Given the description of an element on the screen output the (x, y) to click on. 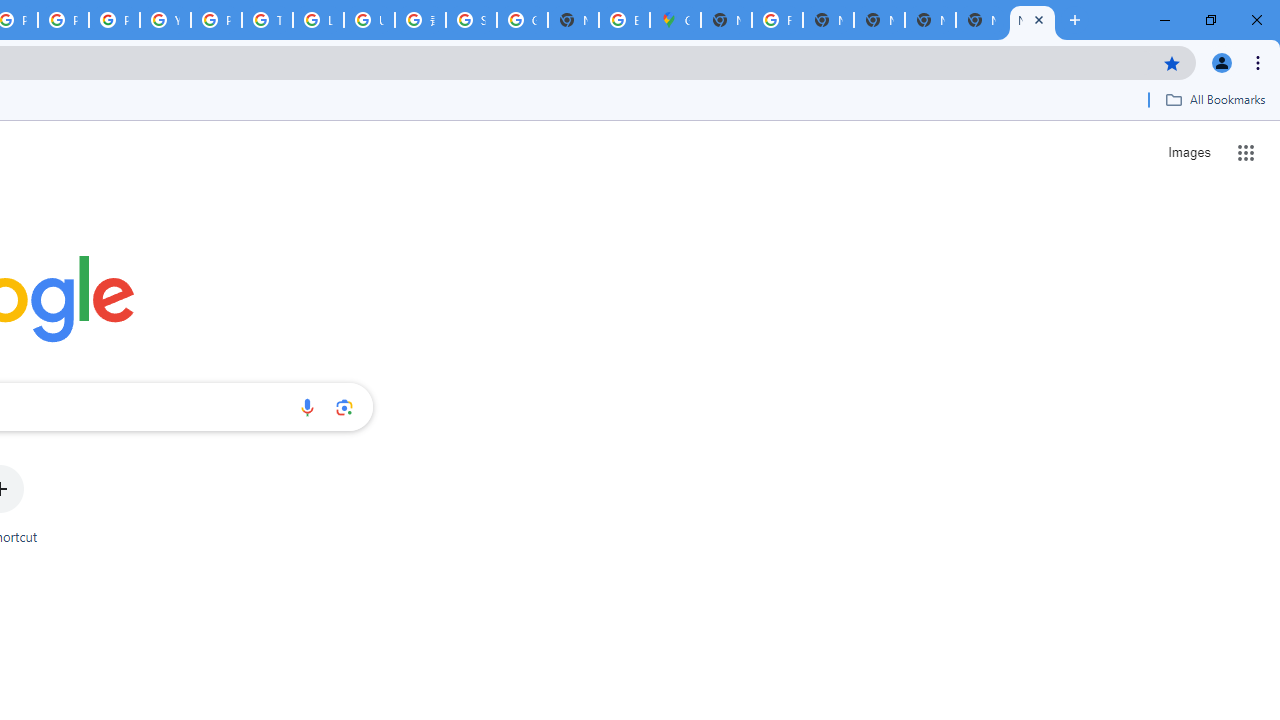
Search for Images  (1188, 152)
New Tab (726, 20)
All Bookmarks (1215, 99)
YouTube (164, 20)
Explore new street-level details - Google Maps Help (624, 20)
Sign in - Google Accounts (470, 20)
